Given the description of an element on the screen output the (x, y) to click on. 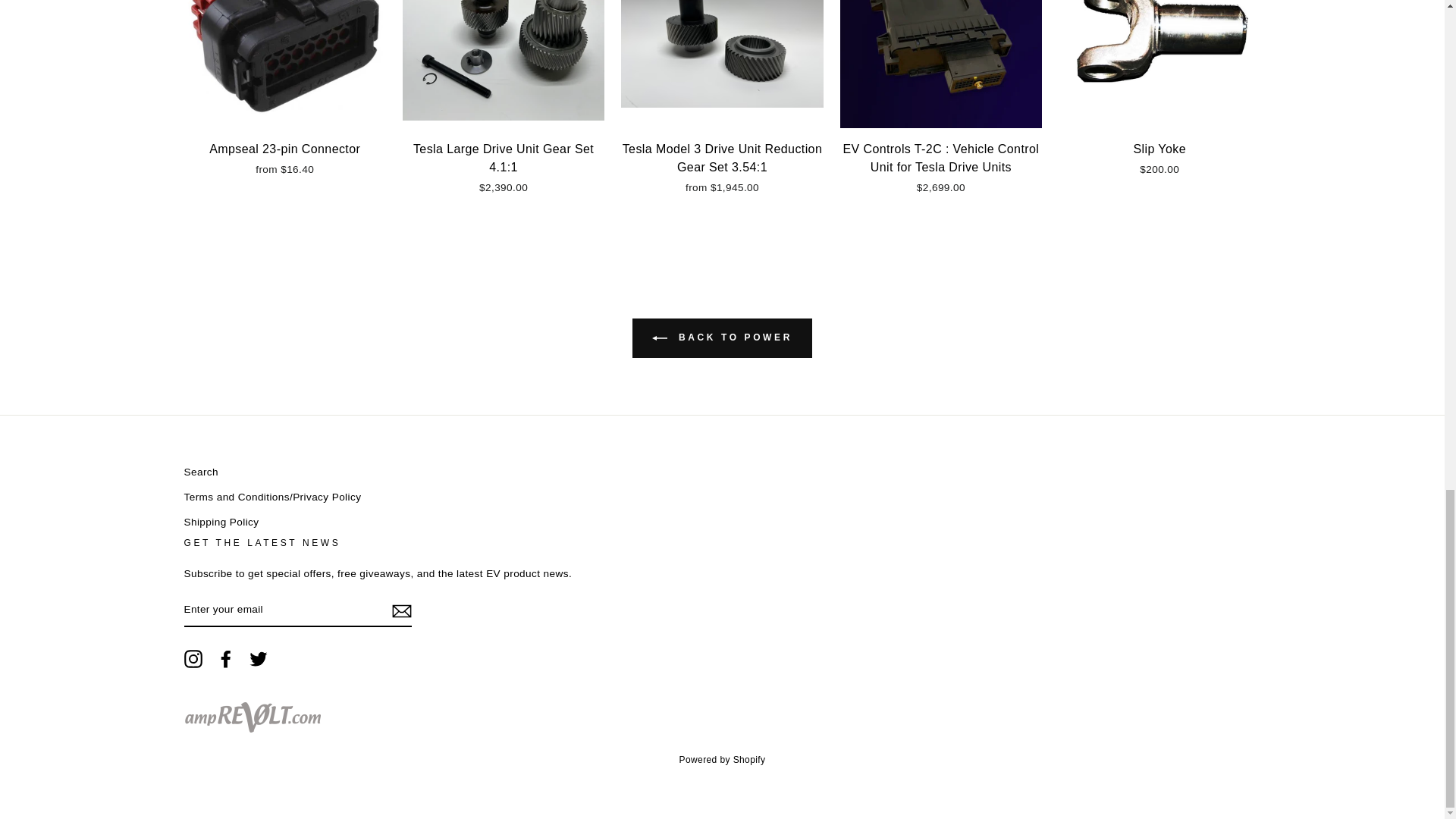
ampREVOLT on Twitter (257, 659)
ampREVOLT on Instagram (192, 659)
ampREVOLT on Facebook (225, 659)
